Given the description of an element on the screen output the (x, y) to click on. 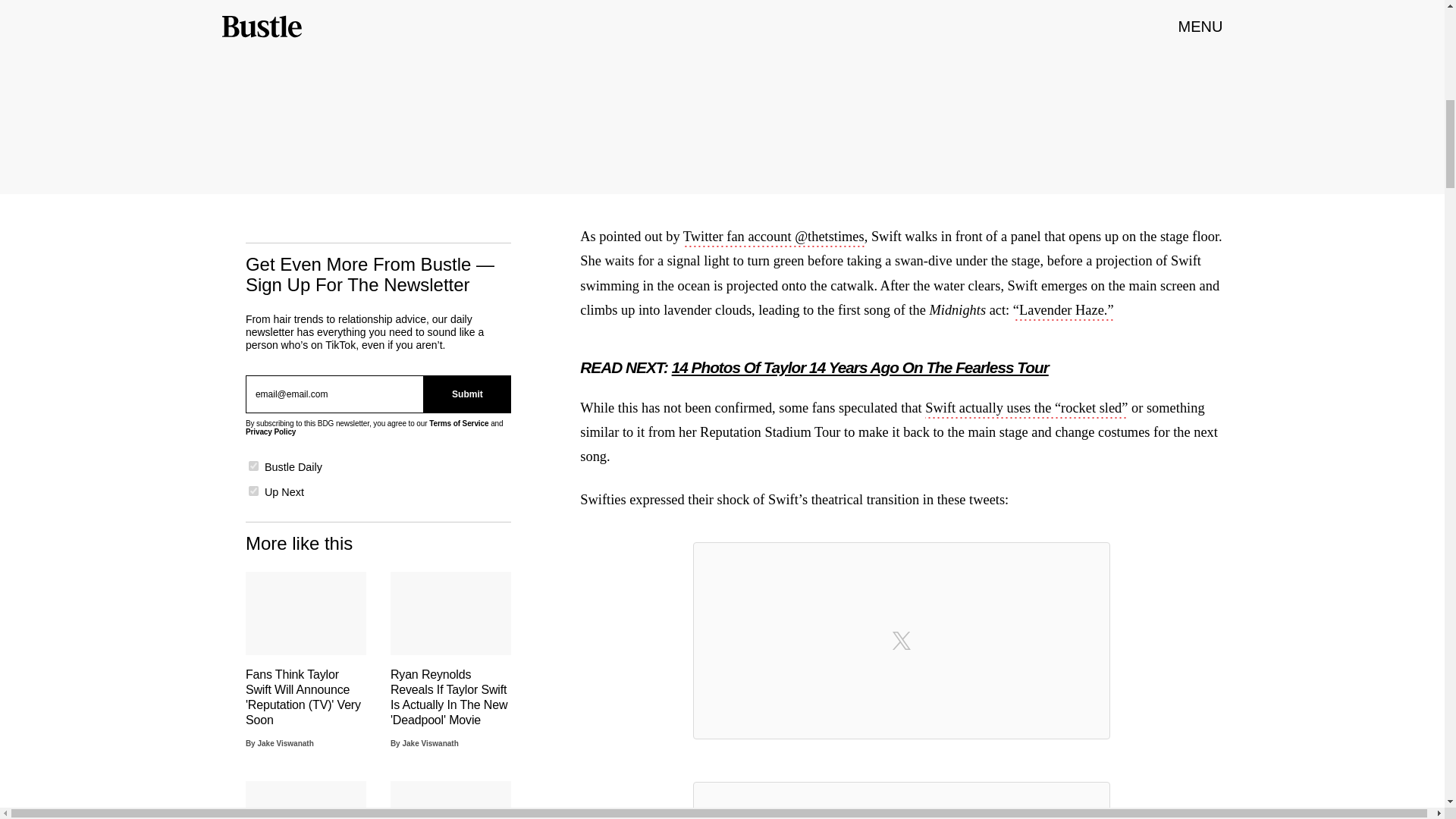
Privacy Policy (270, 431)
Terms of Service (458, 423)
Submit (467, 394)
14 Photos Of Taylor 14 Years Ago On The Fearless Tour (859, 366)
